Given the description of an element on the screen output the (x, y) to click on. 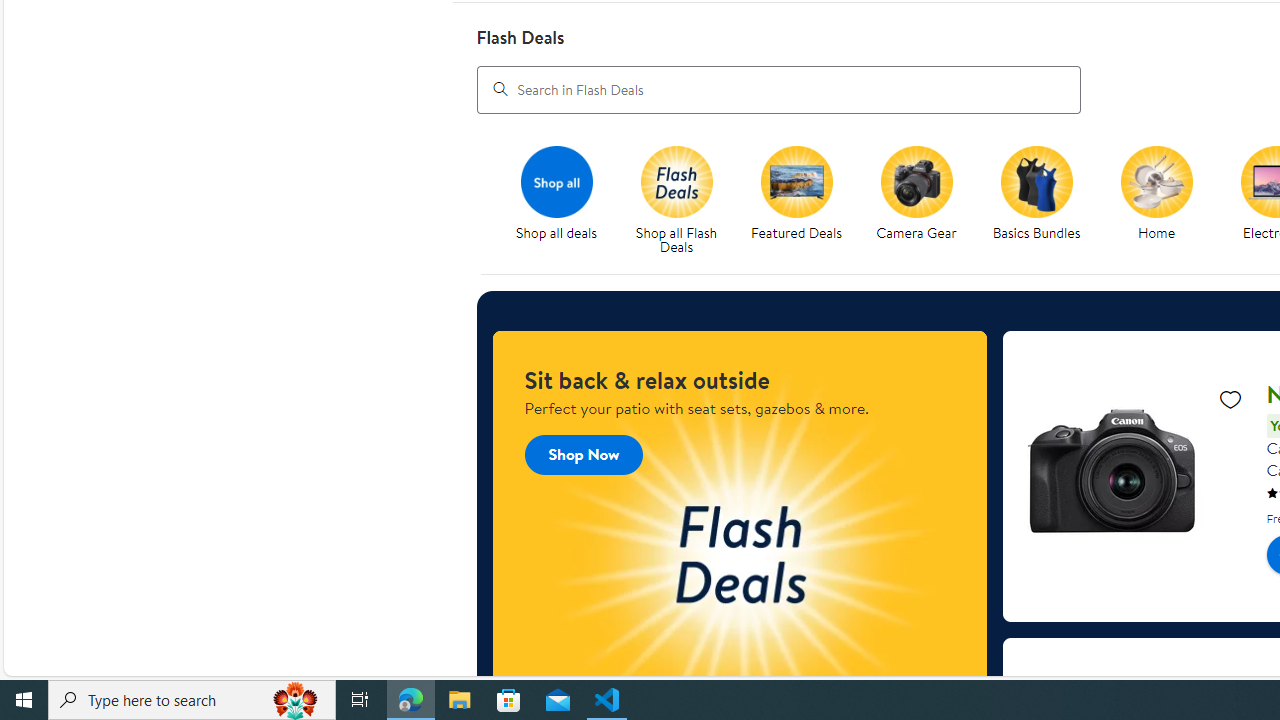
Shop all Shop all deals (556, 194)
Basics Bundles Basics Bundles (1036, 194)
Shop all (555, 181)
Camera Gear (924, 200)
Shop Now (583, 454)
Camera Gear (916, 181)
